Given the description of an element on the screen output the (x, y) to click on. 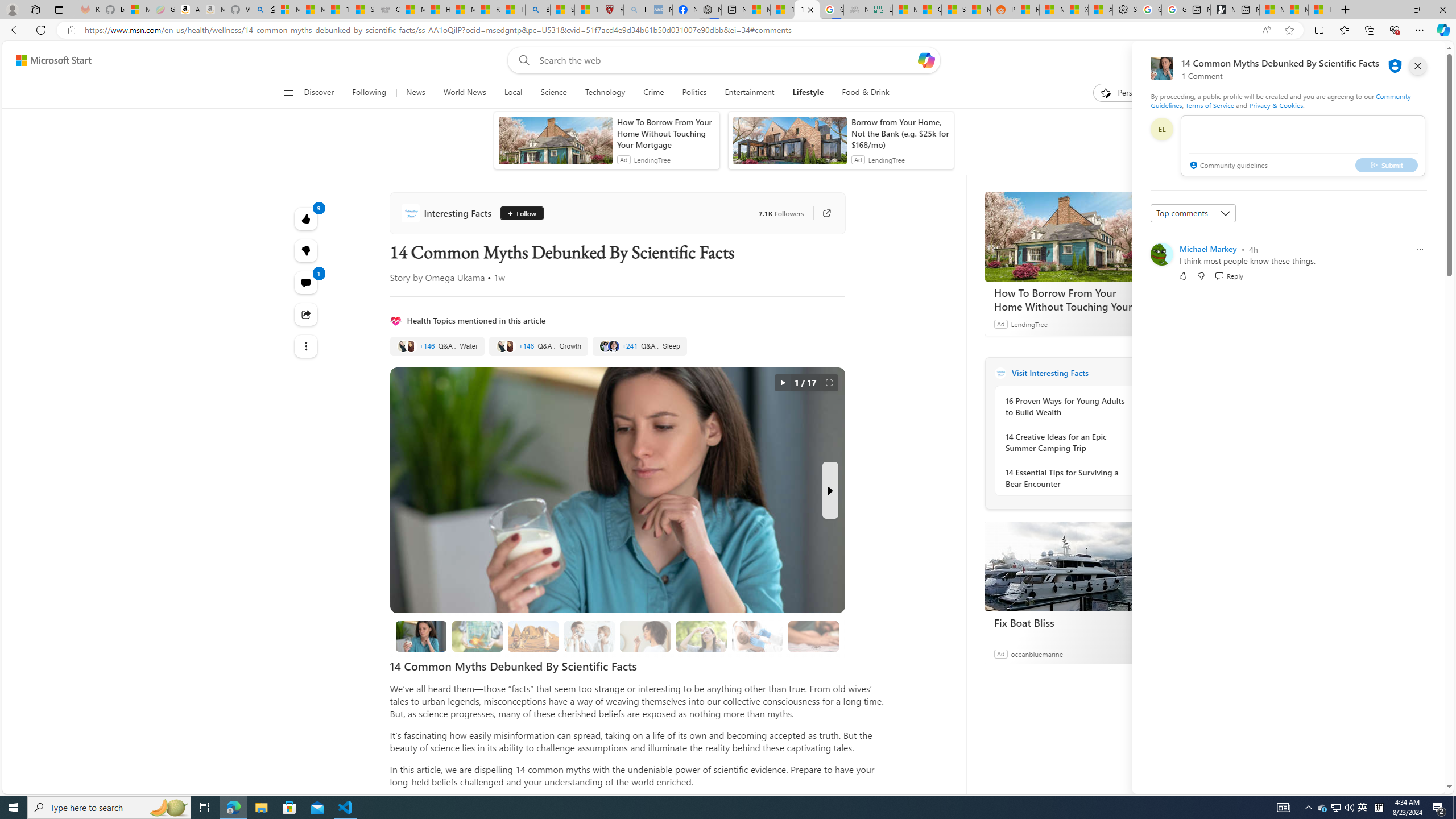
Profile Picture (1161, 254)
Visit Interesting Facts website (1140, 372)
14 Common Myths Debunked By Scientific Facts (421, 635)
Food & Drink (860, 92)
Fix Boat Bliss (1069, 622)
World News (464, 92)
Bing (536, 9)
Michael Markey (1208, 248)
